Given the description of an element on the screen output the (x, y) to click on. 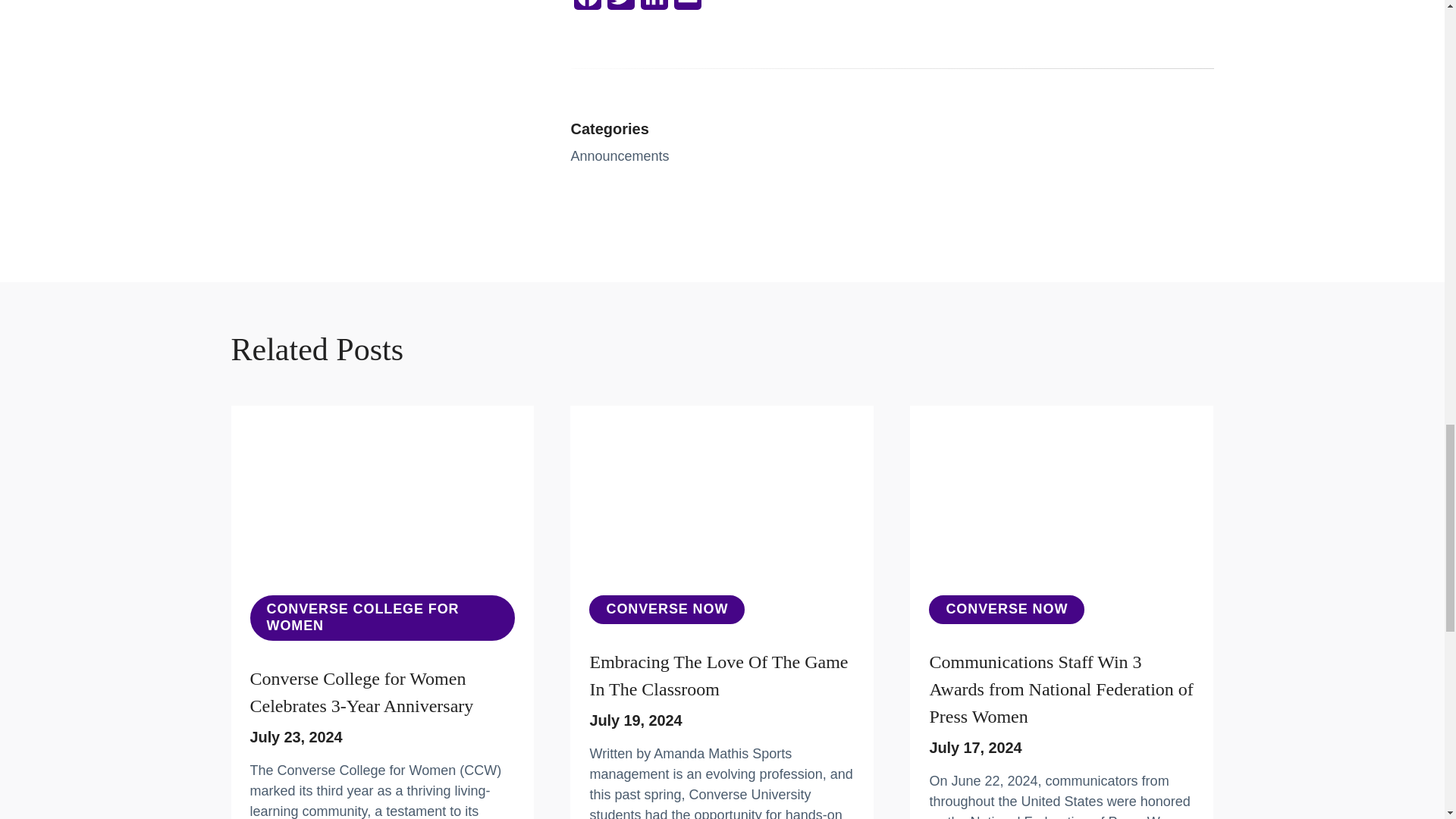
Email (686, 9)
LinkedIn (653, 9)
Twitter (620, 9)
Facebook (587, 9)
